Given the description of an element on the screen output the (x, y) to click on. 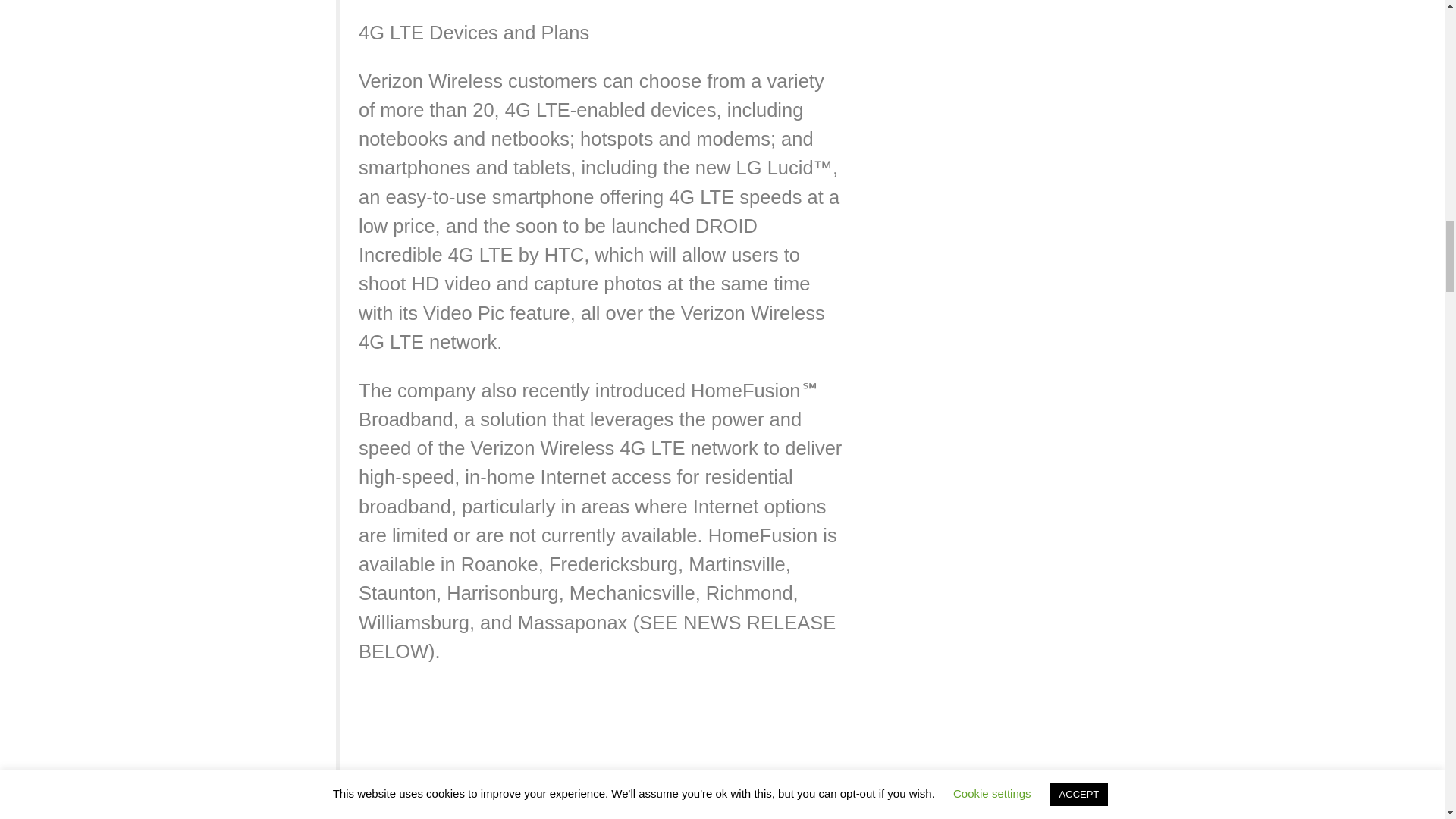
Advertisement (601, 752)
